Given the description of an element on the screen output the (x, y) to click on. 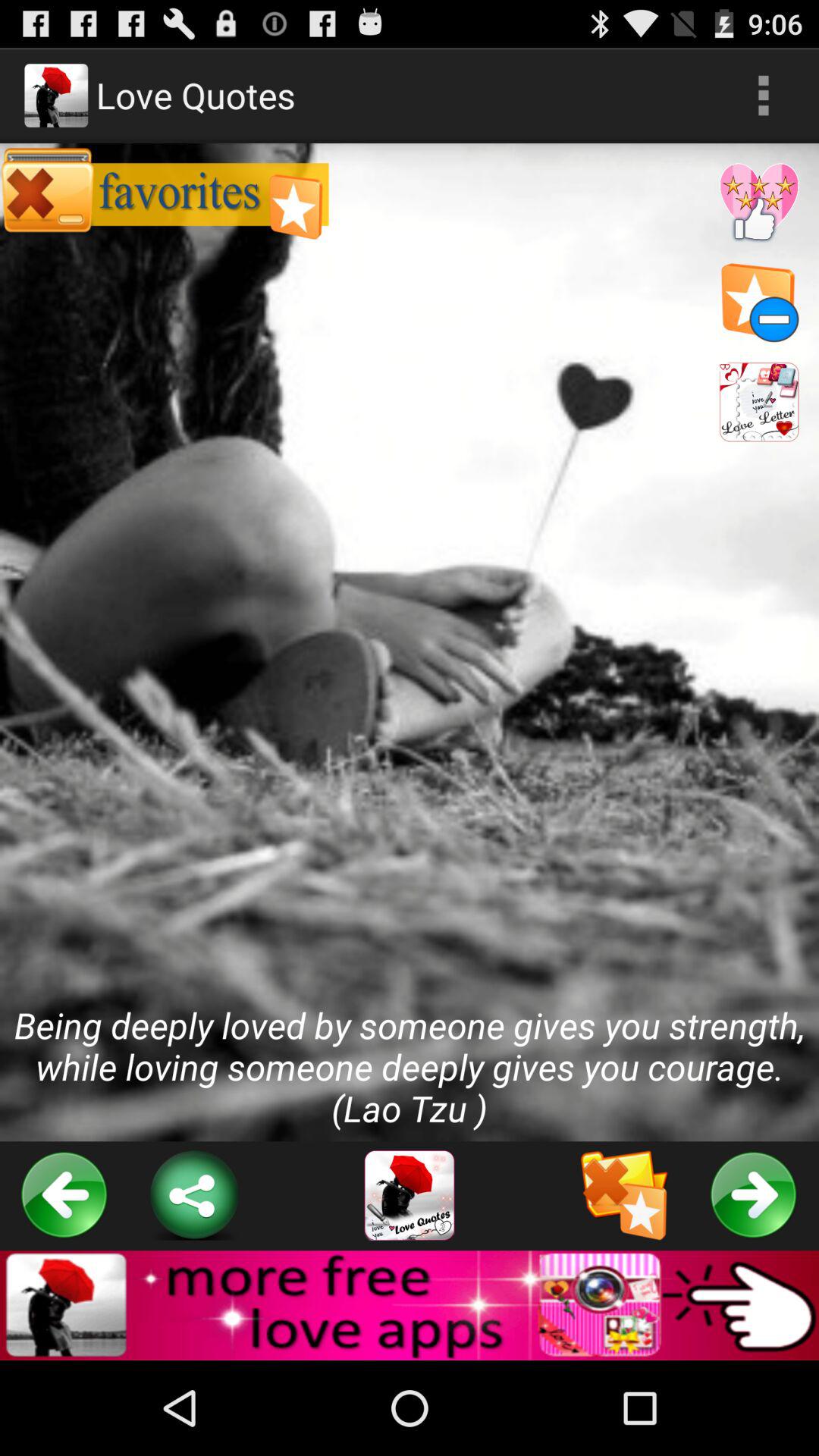
select icon below the being deeply loved icon (409, 1195)
